Given the description of an element on the screen output the (x, y) to click on. 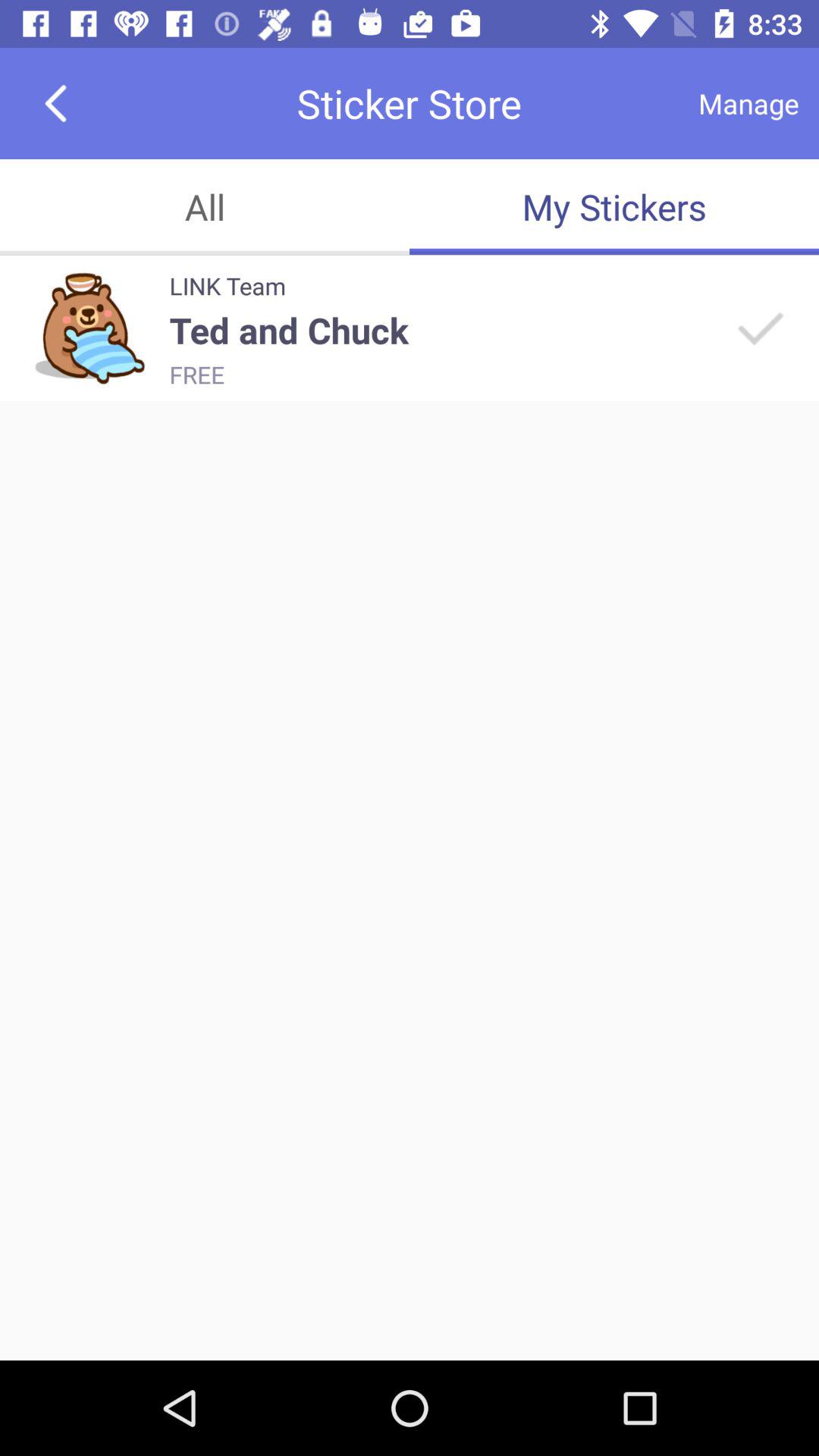
select the app next to sticker store (55, 103)
